Given the description of an element on the screen output the (x, y) to click on. 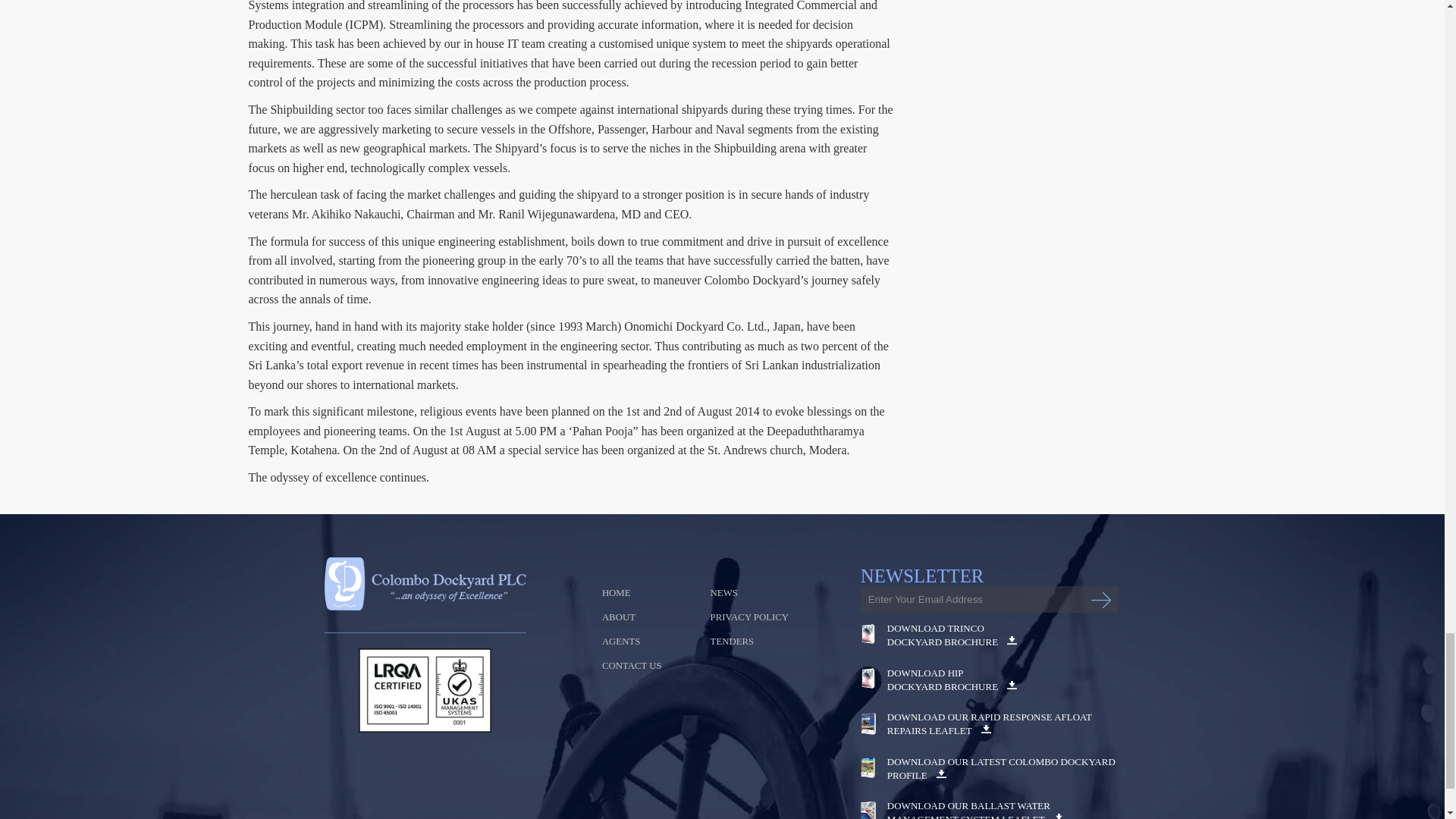
Subscribe (1100, 600)
Enter Your Email Address (989, 599)
